Given the description of an element on the screen output the (x, y) to click on. 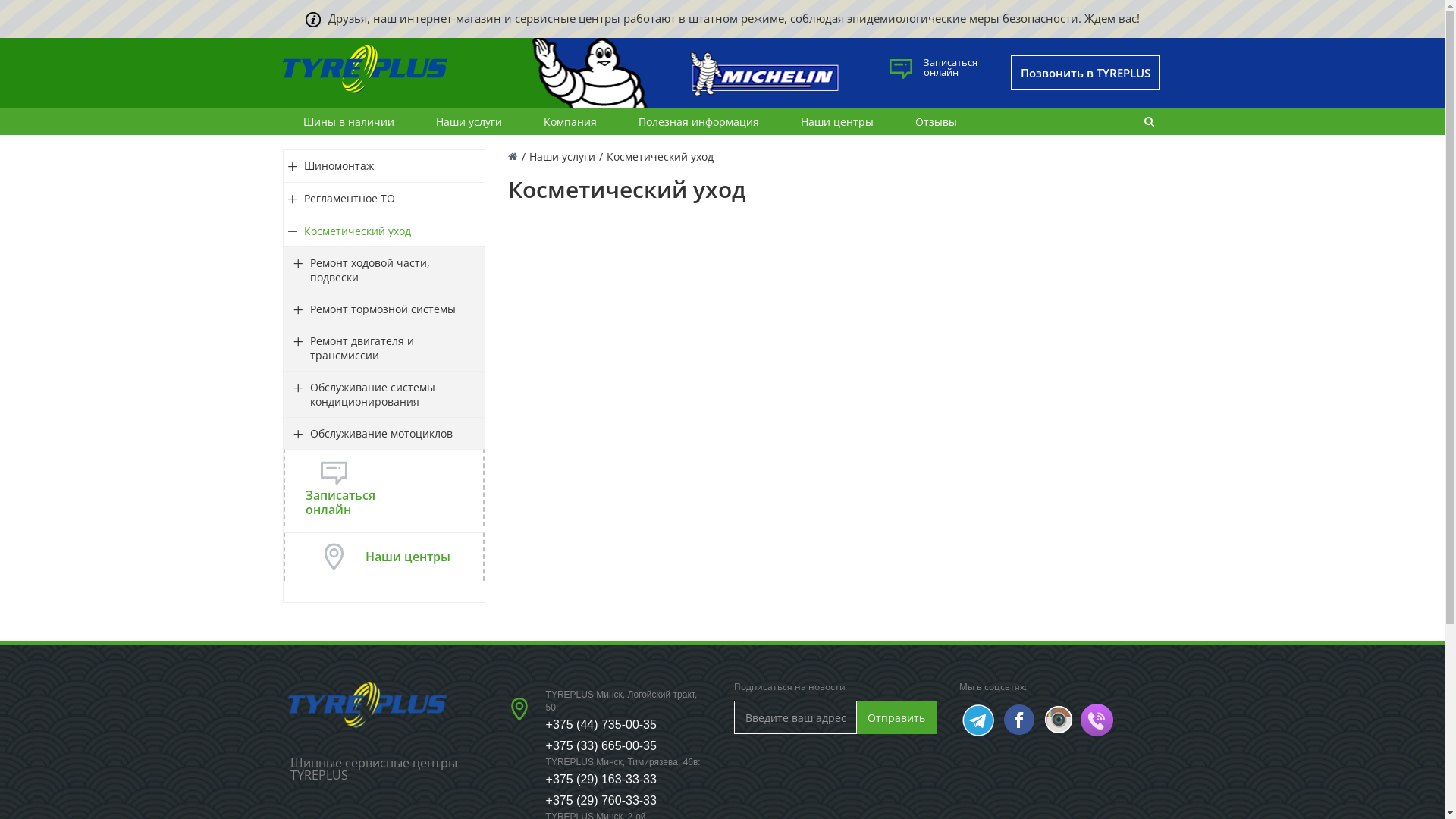
+375 (44) 735-00-35 Element type: text (601, 724)
+375 (29) 760-33-33 Element type: text (601, 799)
+375 (29) 163-33-33 Element type: text (601, 778)
+375 (33) 665-00-35 Element type: text (601, 745)
